Given the description of an element on the screen output the (x, y) to click on. 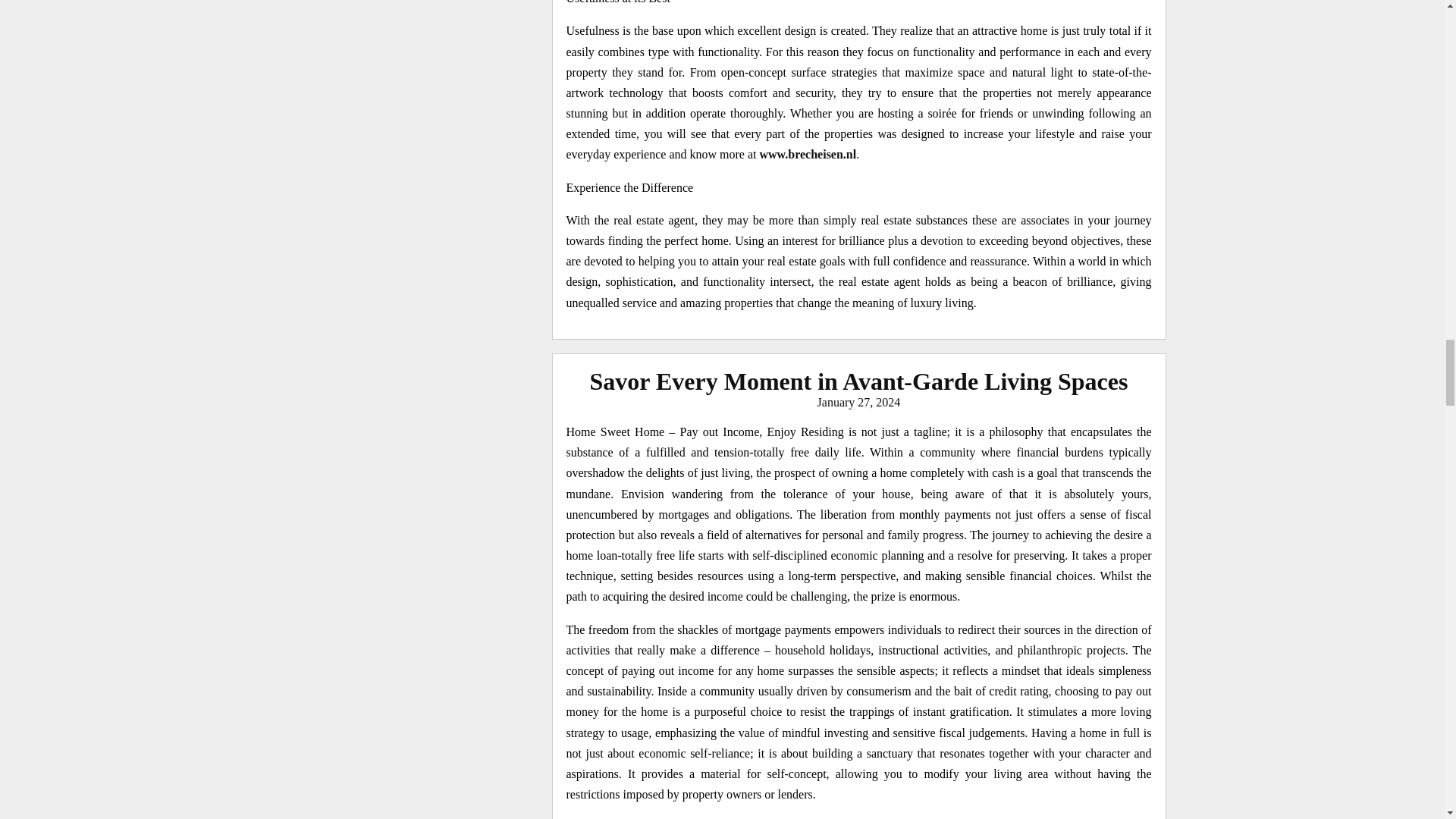
www.brecheisen.nl (808, 154)
January 27, 2024 (858, 401)
Savor Every Moment in Avant-Garde Living Spaces (858, 380)
